Given the description of an element on the screen output the (x, y) to click on. 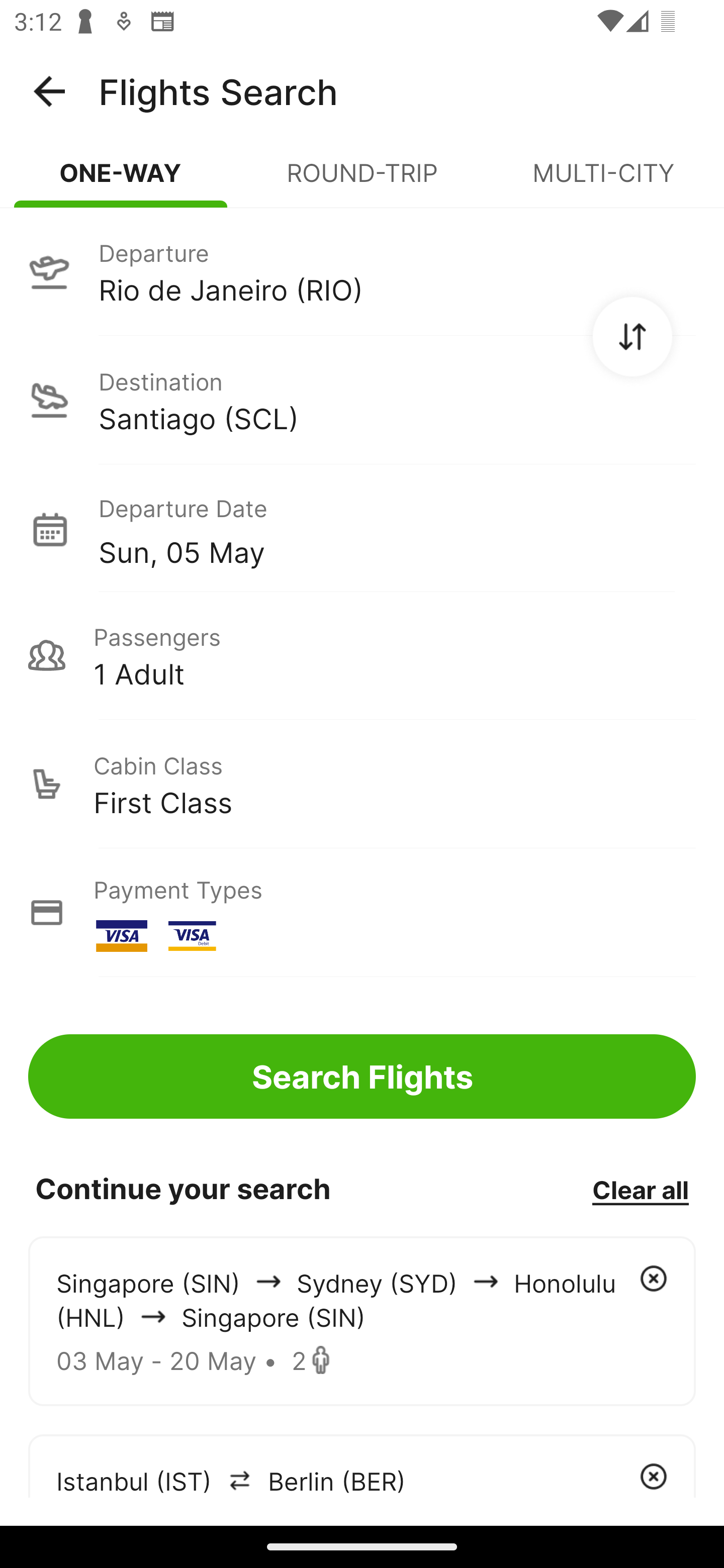
ONE-WAY (120, 180)
ROUND-TRIP (361, 180)
MULTI-CITY (603, 180)
Departure Rio de Janeiro (RIO) (362, 270)
Destination Santiago (SCL) (362, 400)
Departure Date Sun, 05 May (396, 528)
Passengers 1 Adult (362, 655)
Cabin Class First Class (362, 783)
Payment Types (362, 912)
Search Flights (361, 1075)
Clear all (640, 1189)
Istanbul (IST)  arrowIcon  Berlin (BER) (361, 1465)
